Given the description of an element on the screen output the (x, y) to click on. 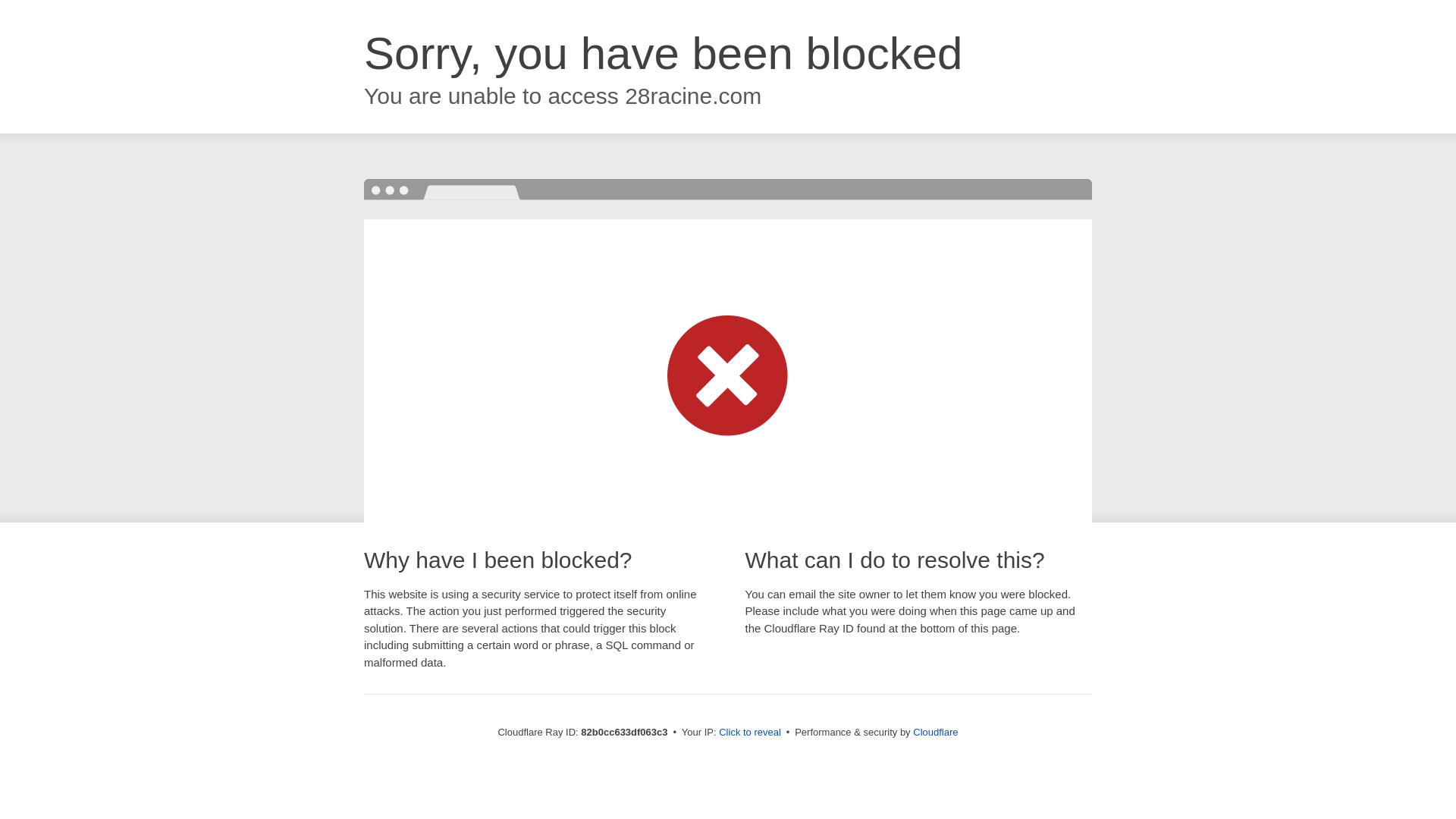
Click to reveal Element type: text (749, 732)
Cloudflare Element type: text (935, 731)
